Given the description of an element on the screen output the (x, y) to click on. 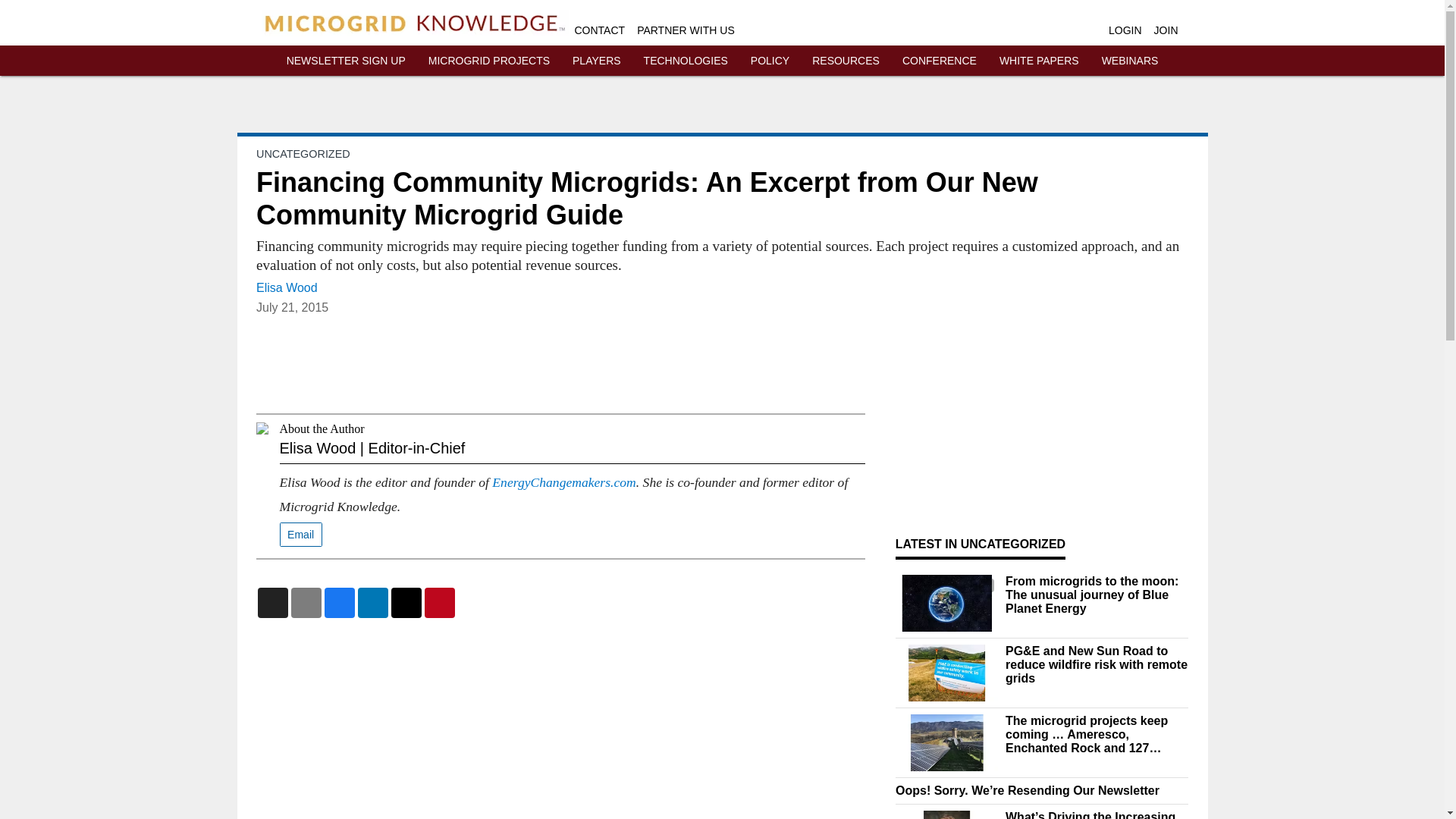
JOIN (1165, 30)
WHITE PAPERS (1038, 60)
NEWSLETTER SIGN UP (346, 60)
CONTACT (600, 30)
TECHNOLOGIES (685, 60)
CONFERENCE (939, 60)
Castello di Amorosa winery. Photo courtesy of 127 Energy (946, 742)
Planet,Earth,-,Elements,Of,This,Image,Furnished,By,Nasa (946, 602)
POLICY (770, 60)
RESOURCES (845, 60)
Tor Anderson, Power Engineers (946, 814)
PARTNER WITH US (686, 30)
PLAYERS (596, 60)
WEBINARS (1130, 60)
MICROGRID PROJECTS (489, 60)
